Given the description of an element on the screen output the (x, y) to click on. 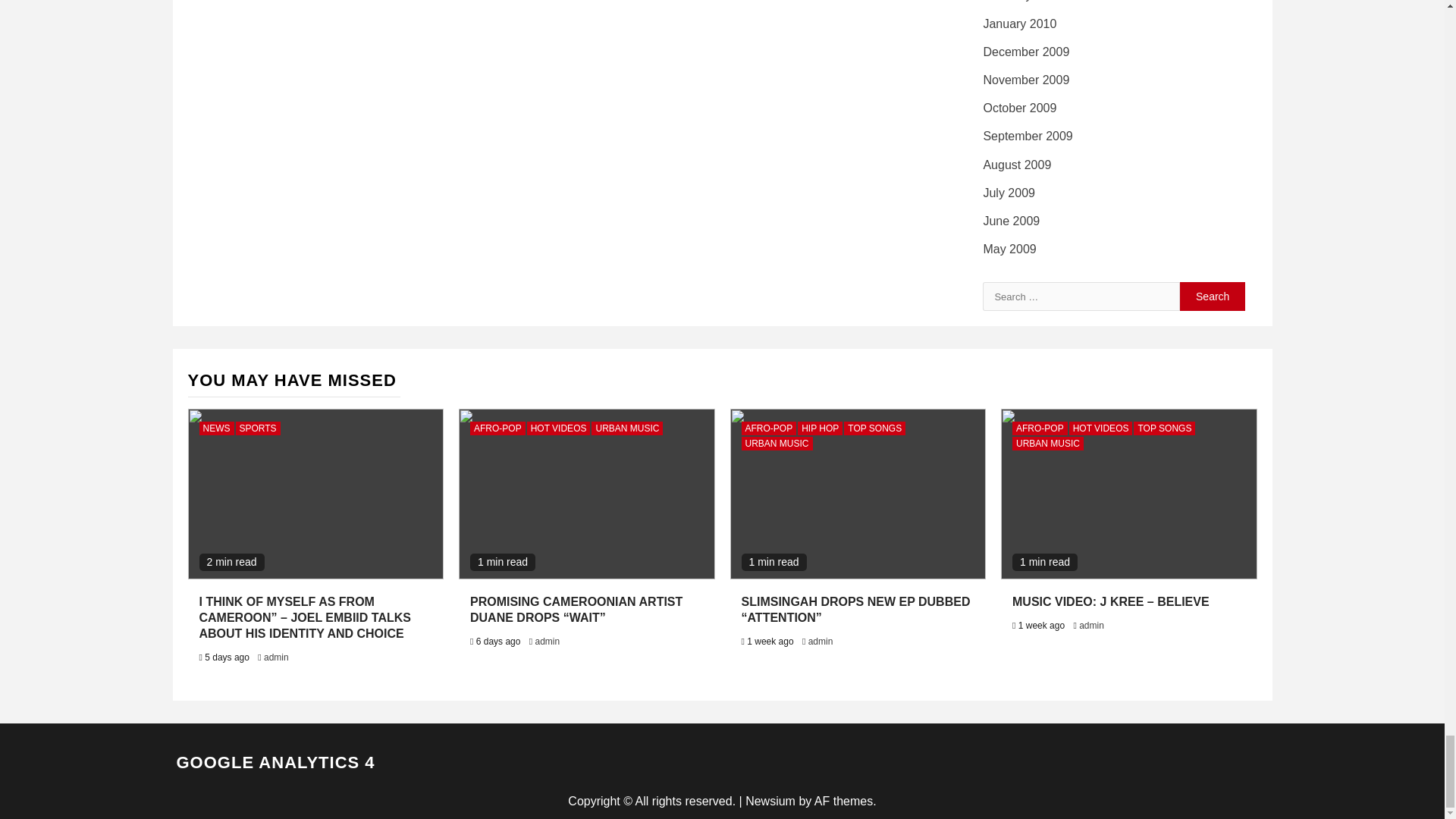
Search (1212, 296)
Search (1212, 296)
